Given the description of an element on the screen output the (x, y) to click on. 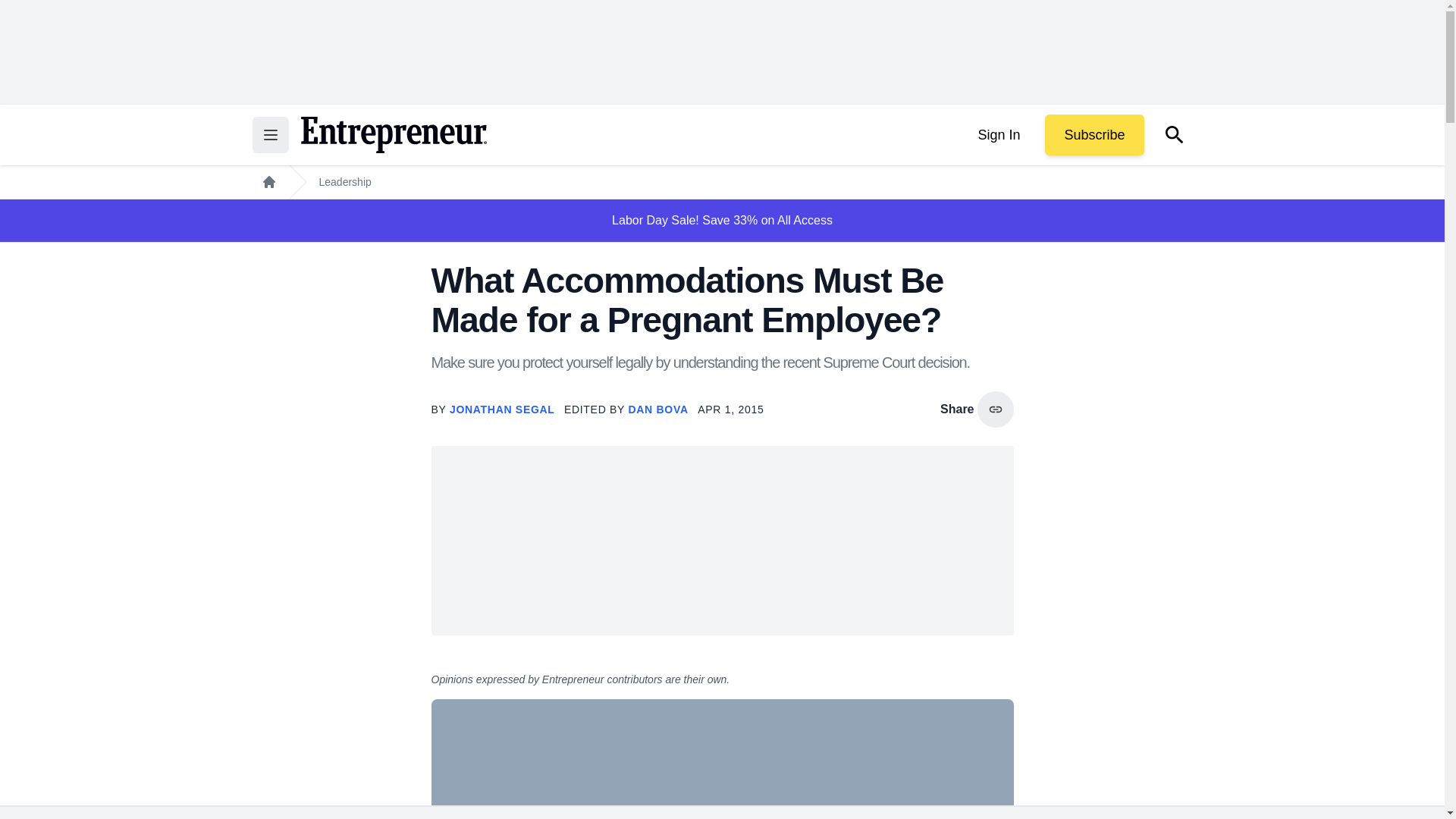
Sign In (998, 134)
Subscribe (1093, 134)
Return to the home page (392, 135)
copy (994, 409)
